Given the description of an element on the screen output the (x, y) to click on. 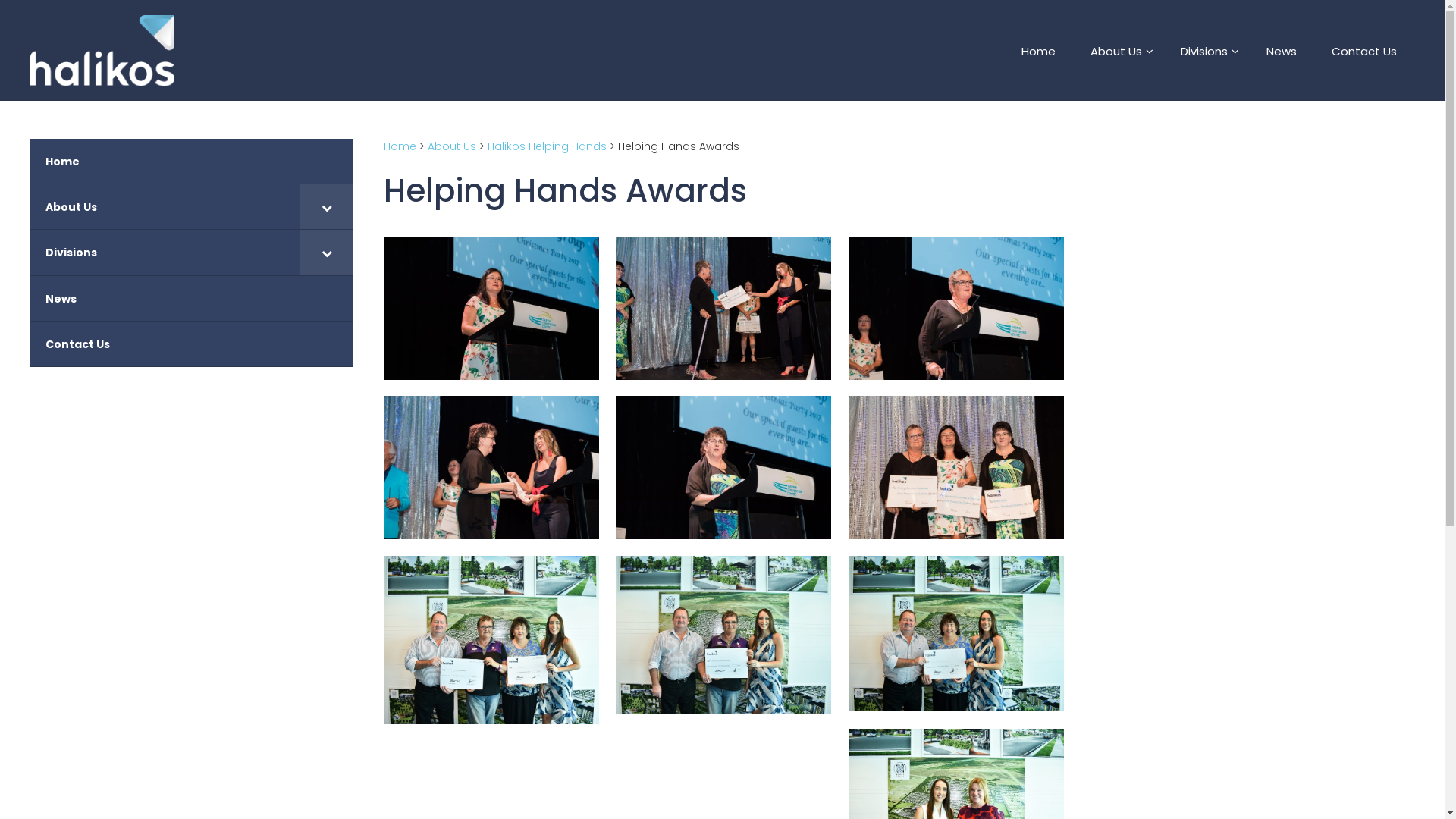
Halikos Helping Hands Element type: text (546, 145)
Home Element type: text (399, 145)
Helping Hands Cheques 2018 Element type: hover (491, 639)
halikos_christmas_2017-174 Element type: hover (723, 467)
Helping Hands Cheques 2018 3 Element type: hover (955, 633)
Home Element type: text (191, 161)
Home Element type: text (1038, 49)
About Us Element type: text (1118, 49)
Contact Us Element type: text (191, 344)
Helping Hands Cheques 2018 2 Element type: hover (723, 634)
halikos_christmas_2017-172 Element type: hover (955, 307)
News Element type: text (191, 298)
News Element type: text (1281, 49)
About Us Element type: text (451, 145)
Contact Us Element type: text (1364, 49)
Divisions Element type: text (191, 252)
halikos_christmas_2017-171 Element type: hover (723, 307)
logo Element type: hover (102, 50)
halikos_christmas_2017-173 Element type: hover (491, 467)
About Us Element type: text (191, 206)
halikos_christmas_2017-170 Element type: hover (491, 307)
Divisions Element type: text (1205, 49)
halikos_christmas_2017-176 Element type: hover (955, 467)
